Given the description of an element on the screen output the (x, y) to click on. 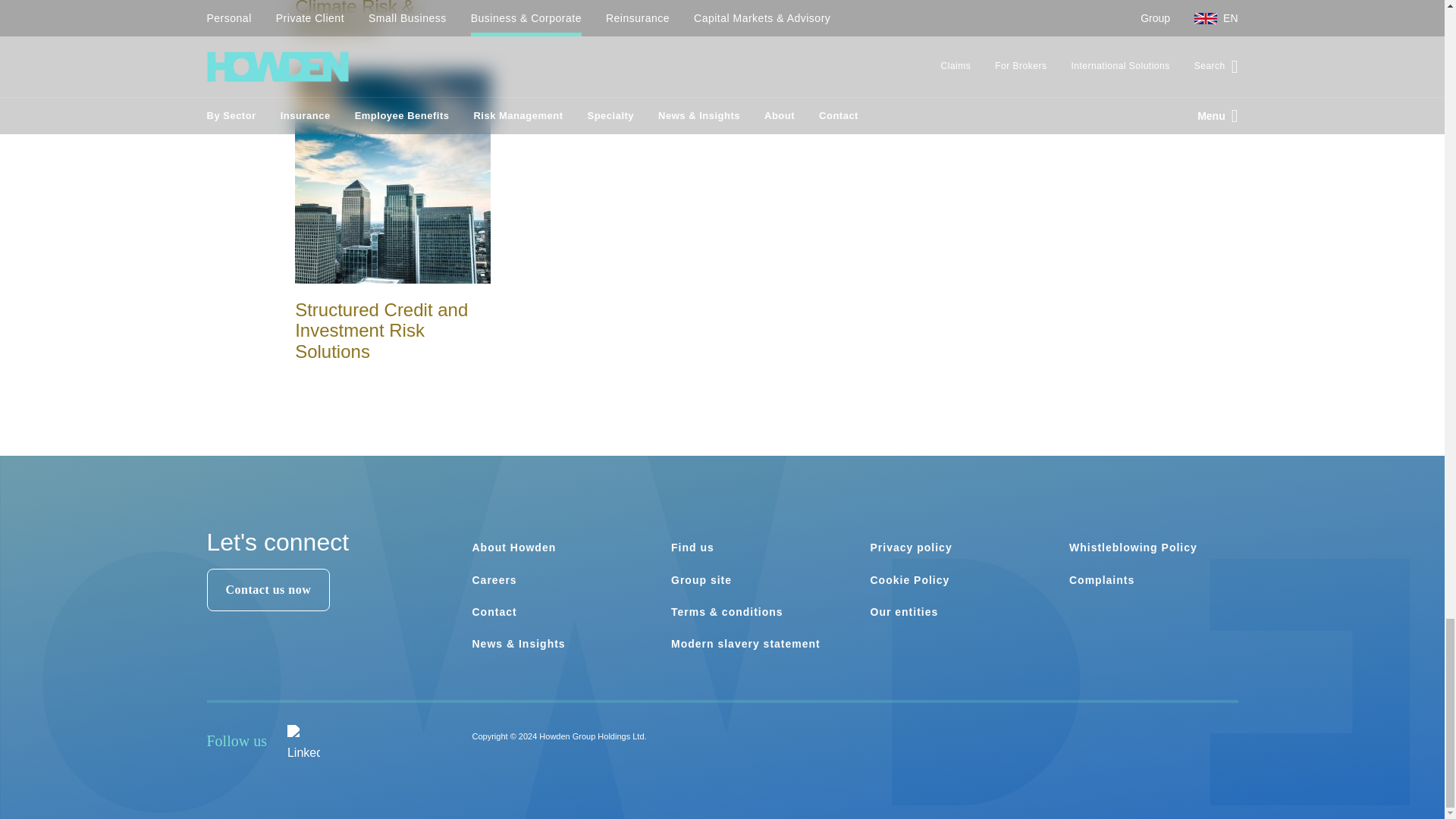
Cookie Policy (910, 580)
Modern slavery statement (746, 644)
Contact  (493, 612)
Careers (493, 580)
Whistleblowing Policy (1132, 547)
About Howden (513, 547)
Privacy policy (911, 547)
Find us (692, 547)
Our entities (904, 612)
Group site (701, 580)
